Given the description of an element on the screen output the (x, y) to click on. 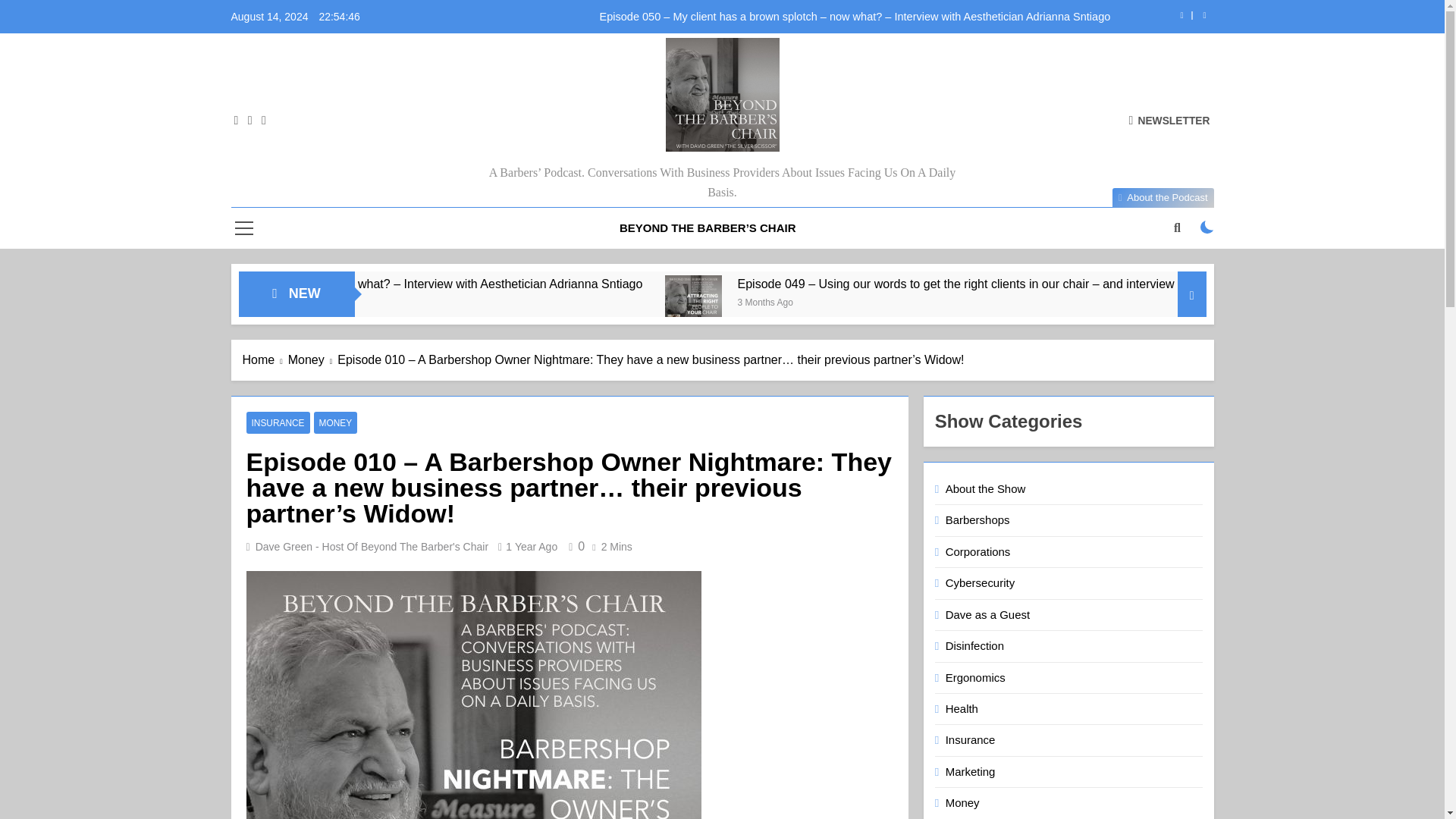
NEWSLETTER (1169, 119)
2 Months Ago (363, 300)
3 Months Ago (1011, 300)
About the Podcast (1163, 198)
on (1206, 227)
